Given the description of an element on the screen output the (x, y) to click on. 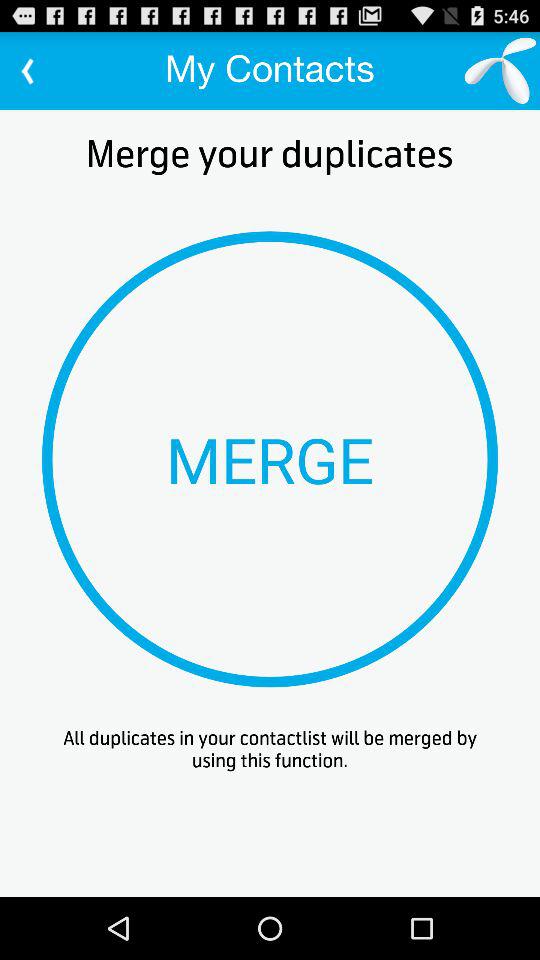
merge (270, 459)
